Given the description of an element on the screen output the (x, y) to click on. 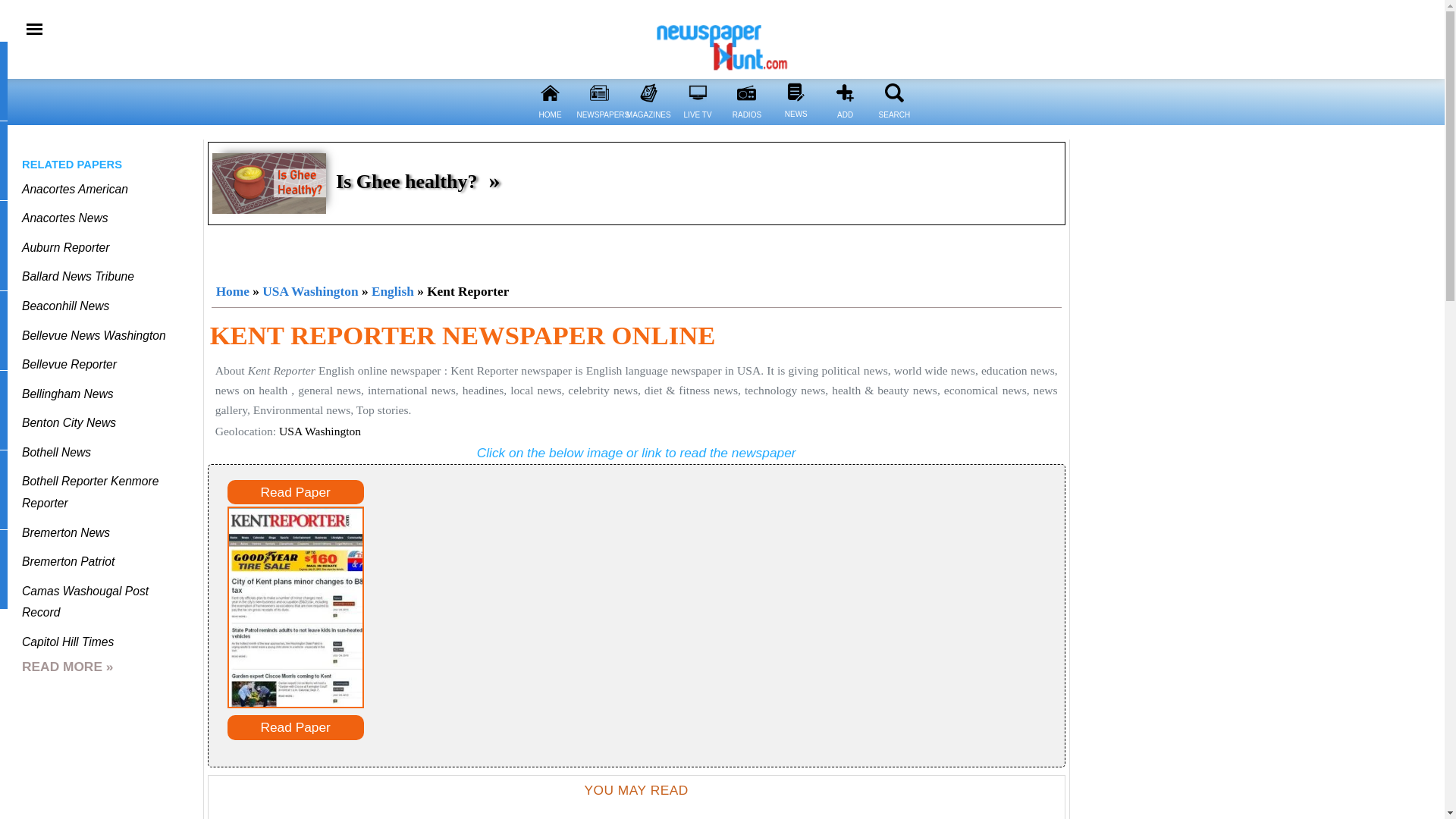
RADIOS (746, 124)
Bellingham News (67, 393)
Ballard News Tribune (77, 276)
LIVE TV (697, 124)
Bothell Reporter Kenmore Reporter (89, 492)
SEARCH (894, 92)
Bellevue News Washington (93, 335)
Bothell News (55, 451)
Anacortes News (64, 217)
3rd party ad content (636, 249)
NEWS (795, 91)
Beaconhill News (65, 305)
Auburn Reporter (65, 246)
LIVE TV (697, 92)
Anacortes American (74, 188)
